Given the description of an element on the screen output the (x, y) to click on. 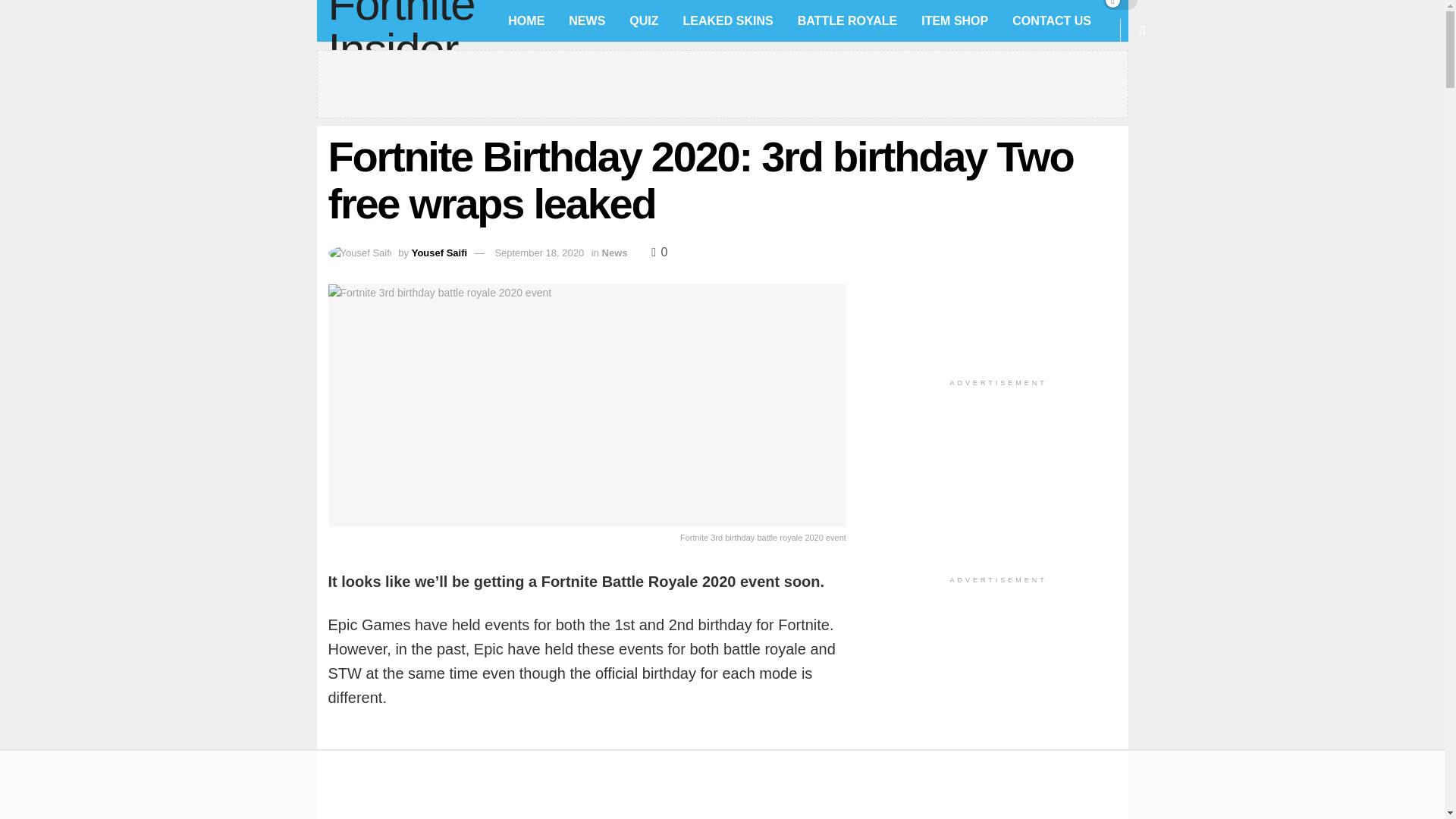
News (614, 252)
NEWS (586, 20)
CONTACT US (1051, 20)
BATTLE ROYALE (848, 20)
September 18, 2020 (539, 252)
LEAKED SKINS (728, 20)
ITEM SHOP (954, 20)
HOME (526, 20)
QUIZ (643, 20)
